Given the description of an element on the screen output the (x, y) to click on. 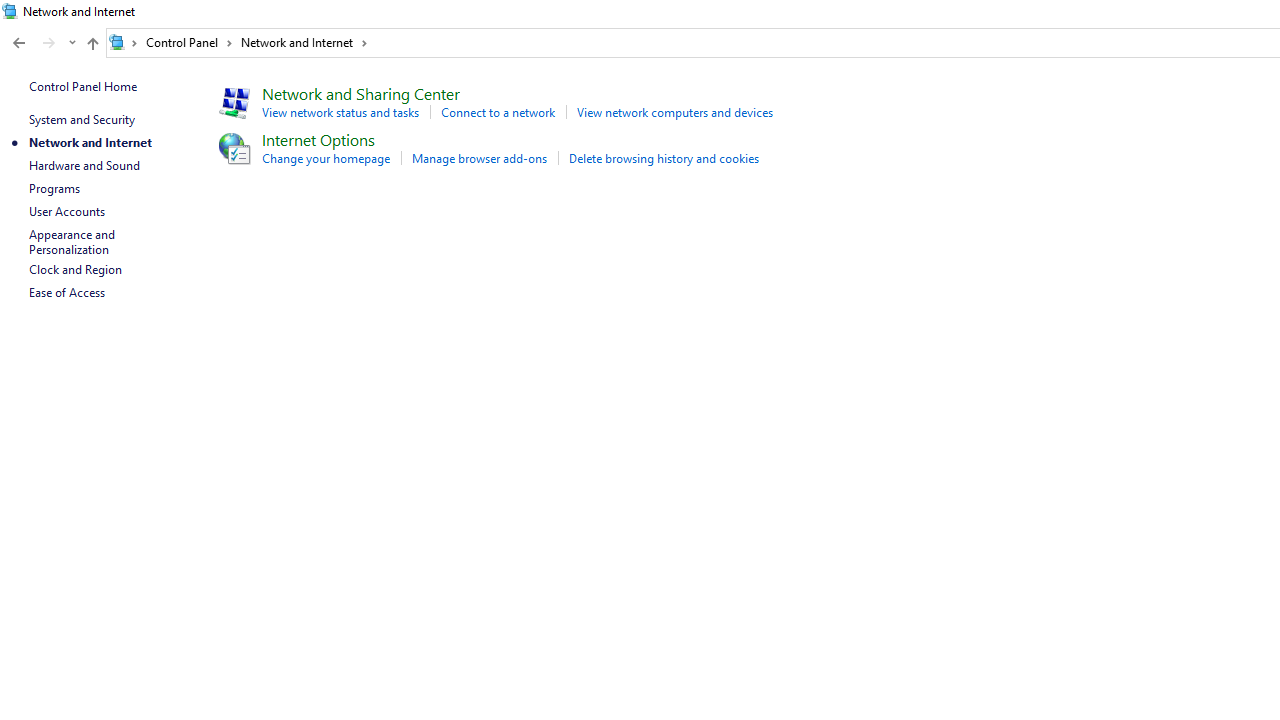
Connect to a network (497, 112)
Recent locations (71, 43)
Hardware and Sound (84, 164)
Clock and Region (75, 269)
System (10, 11)
Change your homepage (325, 158)
Icon (232, 147)
Manage browser add-ons (479, 158)
Network and Sharing Center (360, 92)
Up band toolbar (92, 46)
Back to System and Security (Alt + Left Arrow) (18, 43)
System (10, 11)
Internet Options (318, 138)
Programs (53, 187)
Navigation buttons (41, 43)
